Given the description of an element on the screen output the (x, y) to click on. 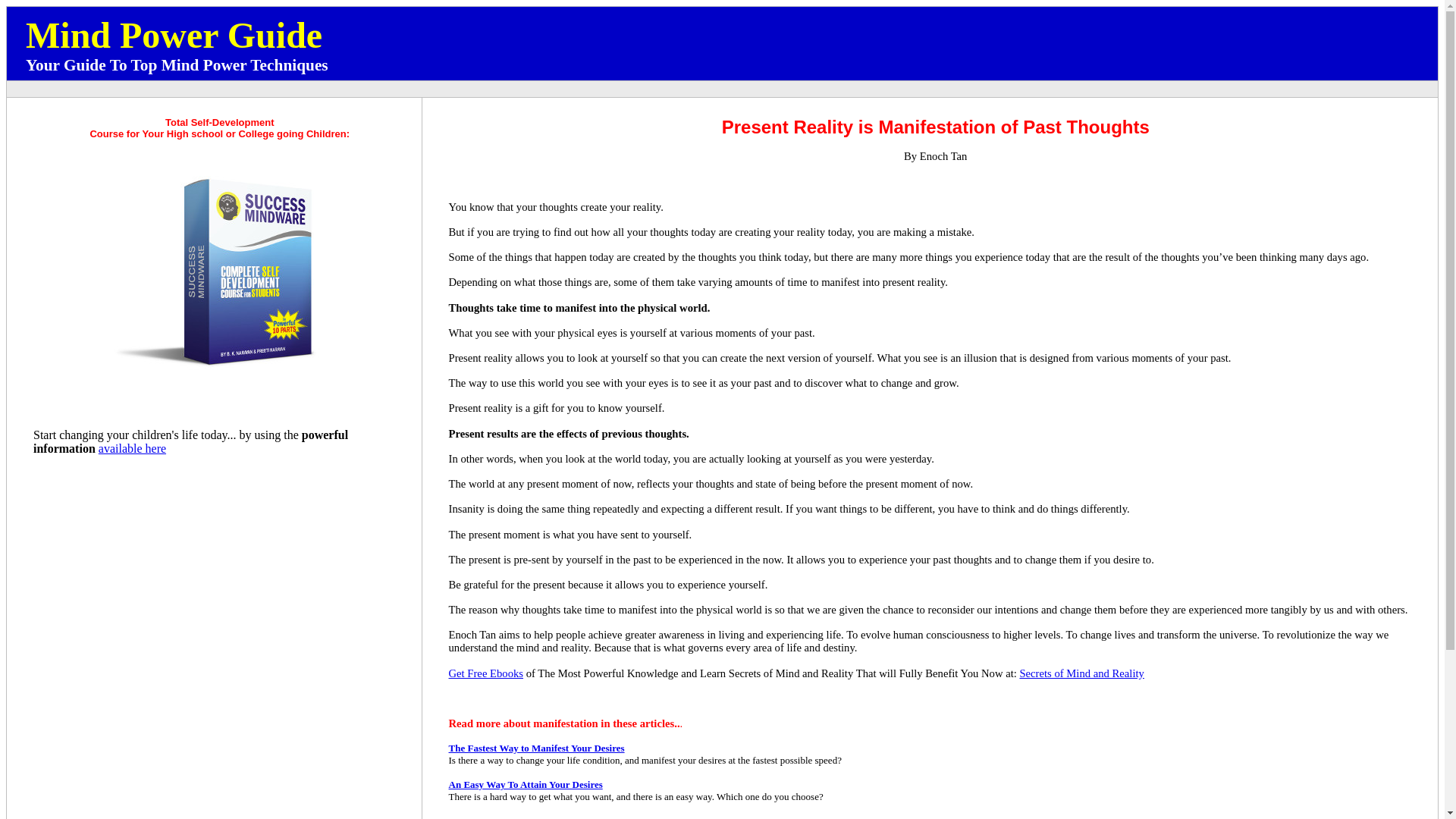
Secrets of Mind and Reality (1080, 673)
Advertisement (731, 89)
An Easy Way To Attain Your Desires (525, 784)
The Fastest Way to Manifest Your Desires (536, 747)
Get Free Ebooks (486, 673)
available here (132, 448)
